Given the description of an element on the screen output the (x, y) to click on. 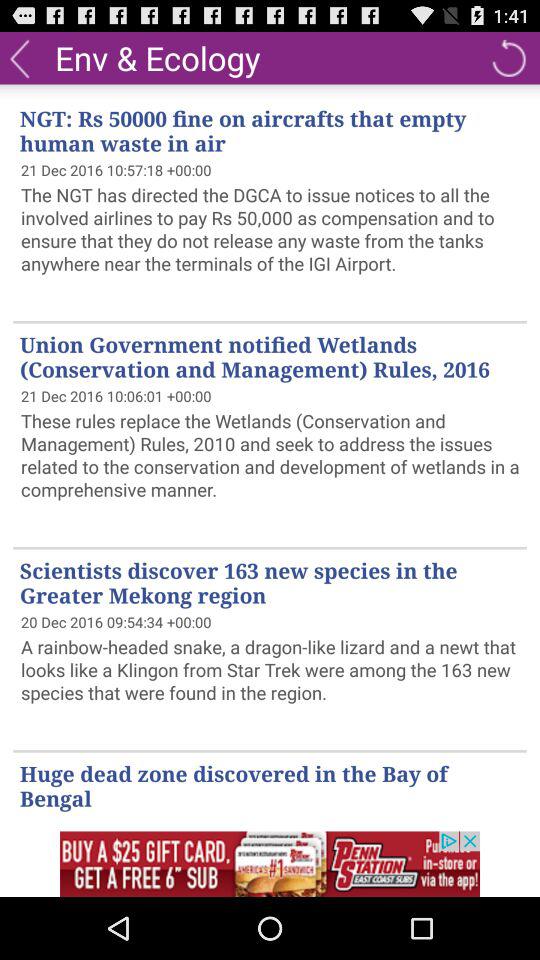
reload the page (508, 57)
